Given the description of an element on the screen output the (x, y) to click on. 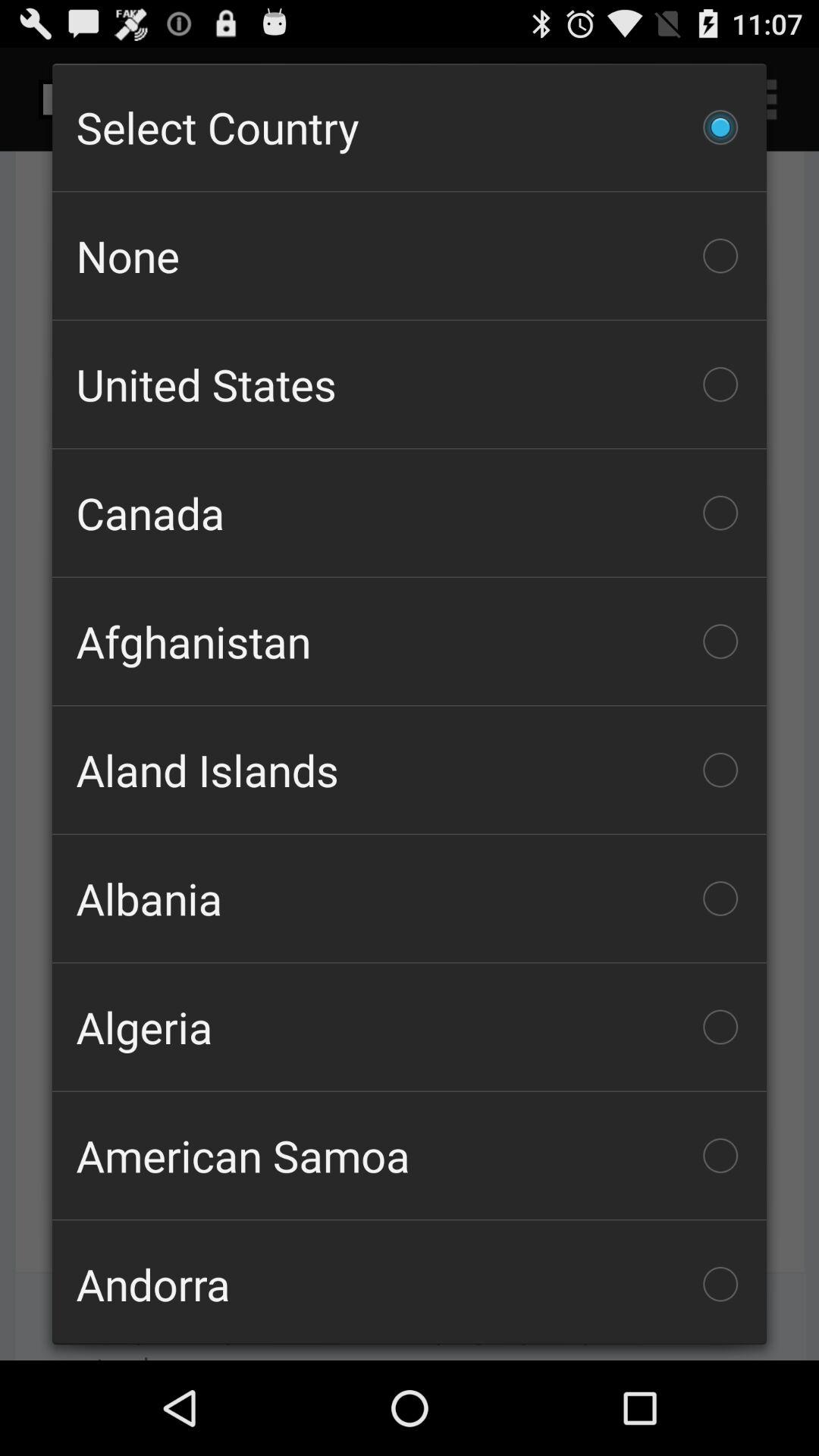
tap the item above the andorra icon (409, 1155)
